Given the description of an element on the screen output the (x, y) to click on. 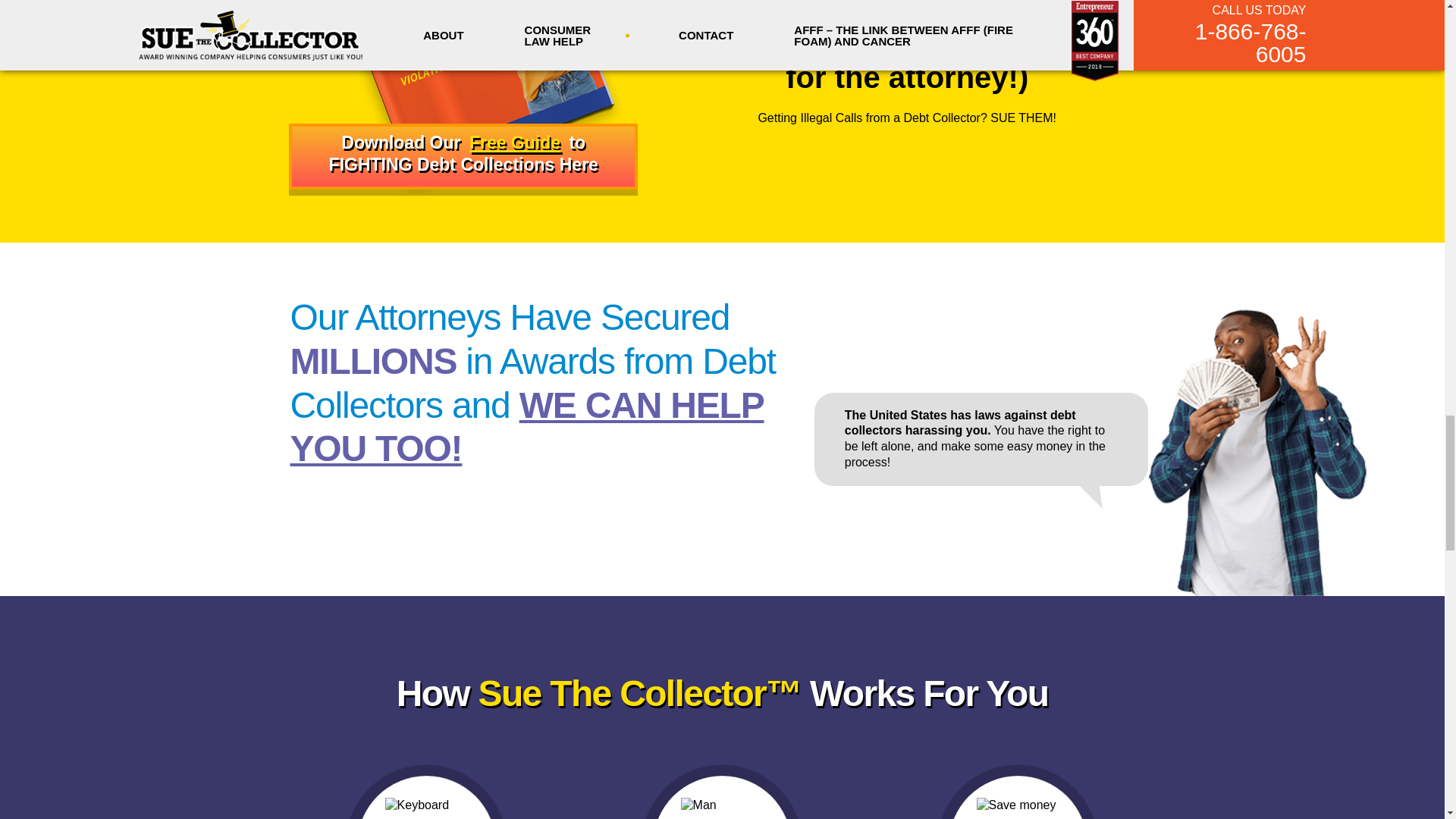
Contact (462, 156)
Save Money (1017, 808)
Download Our Free Guide to FIGHTING Debt Collections Here (462, 156)
Man (722, 808)
Keyboard (426, 808)
Book (463, 99)
